Given the description of an element on the screen output the (x, y) to click on. 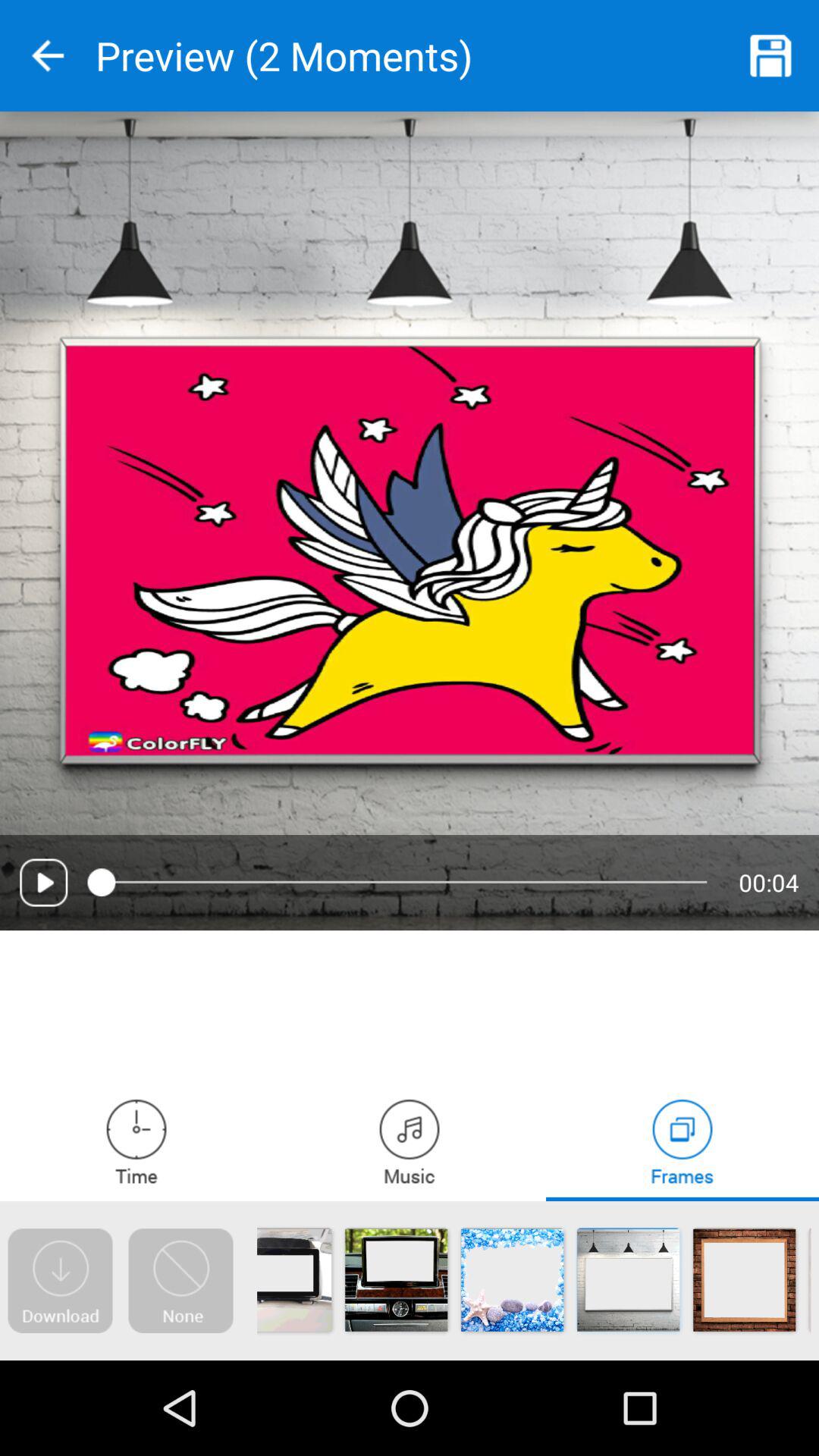
saves the moment (771, 55)
